Given the description of an element on the screen output the (x, y) to click on. 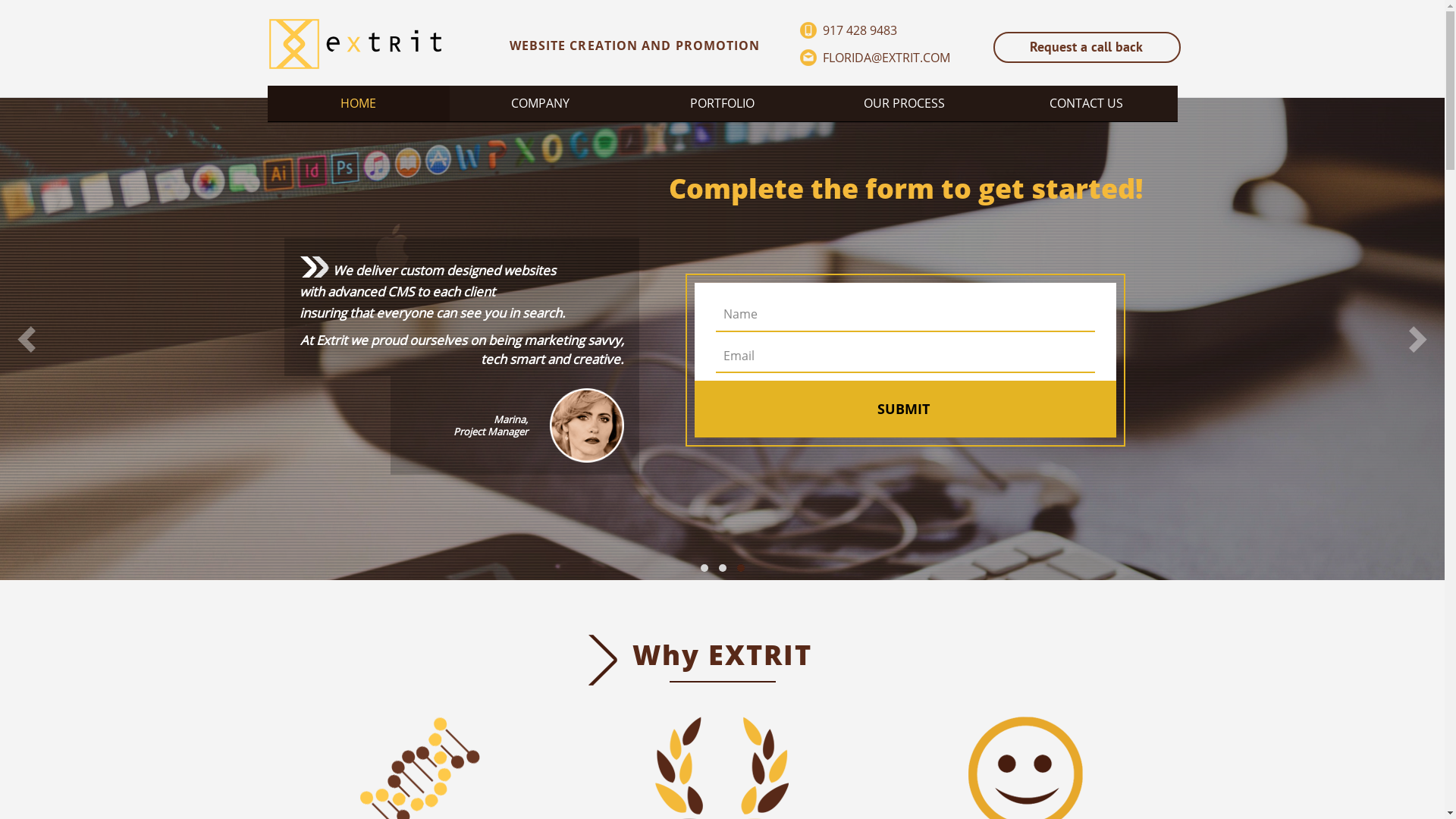
CONTACT US Element type: text (1085, 103)
HOME Element type: text (357, 103)
Submit Element type: text (903, 410)
Request a call back Element type: text (1086, 46)
OUR PROCESS Element type: text (903, 103)
PORTFOLIO Element type: text (721, 103)
